Given the description of an element on the screen output the (x, y) to click on. 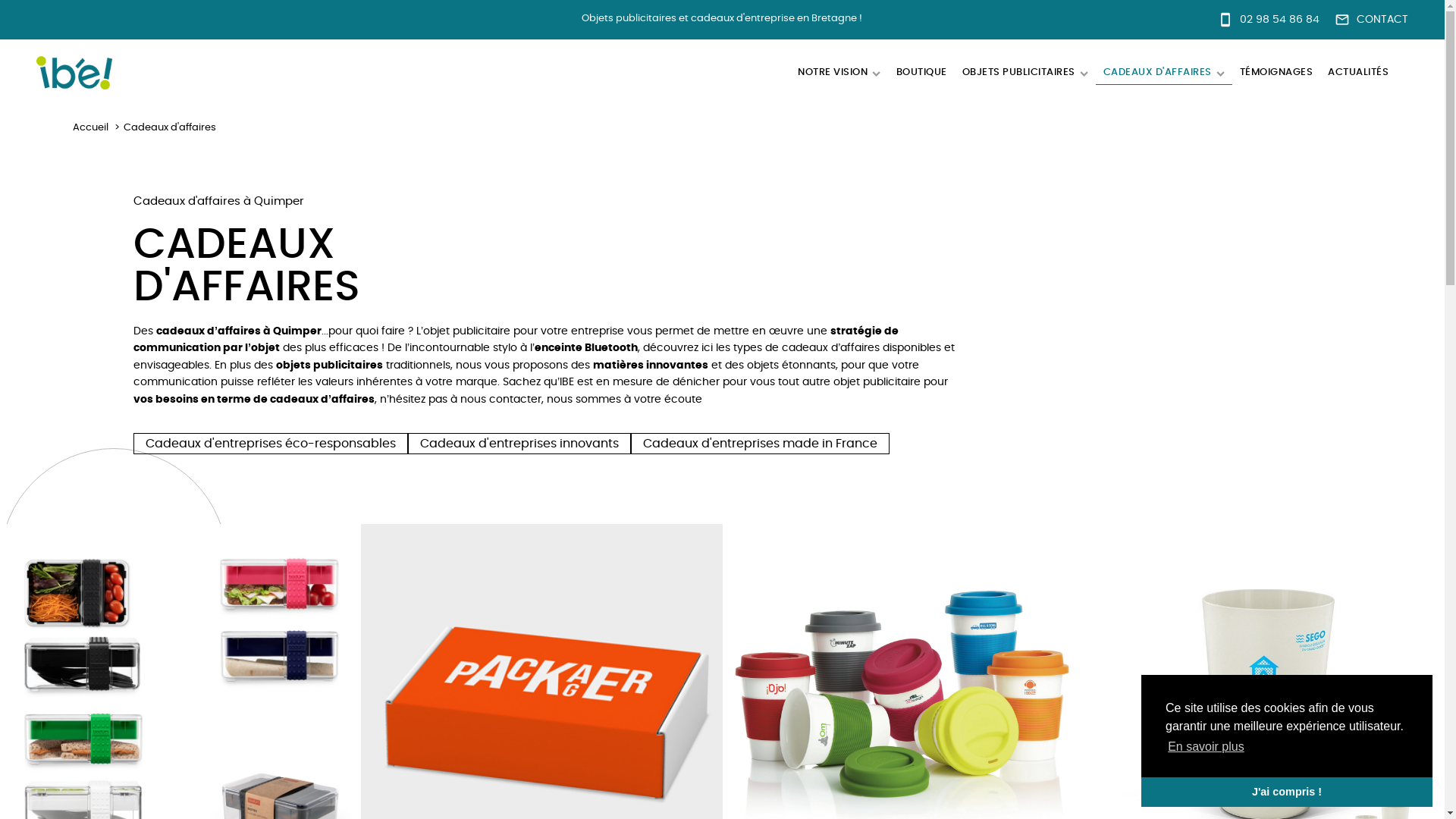
mail_outline
CONTACT Element type: text (1371, 19)
CADEAUX D'AFFAIRES Element type: text (1163, 72)
BOUTIQUE Element type: text (921, 72)
smartphone
02 98 54 86 84 Element type: text (1268, 19)
Cadeaux d'entreprises made in France Element type: text (759, 443)
En savoir plus Element type: text (1205, 746)
NOTRE VISION Element type: text (839, 72)
J'ai compris ! Element type: text (1286, 791)
Accueil Element type: text (90, 127)
Cadeaux d'entreprises innovants Element type: text (518, 443)
OBJETS PUBLICITAIRES Element type: text (1024, 72)
